Given the description of an element on the screen output the (x, y) to click on. 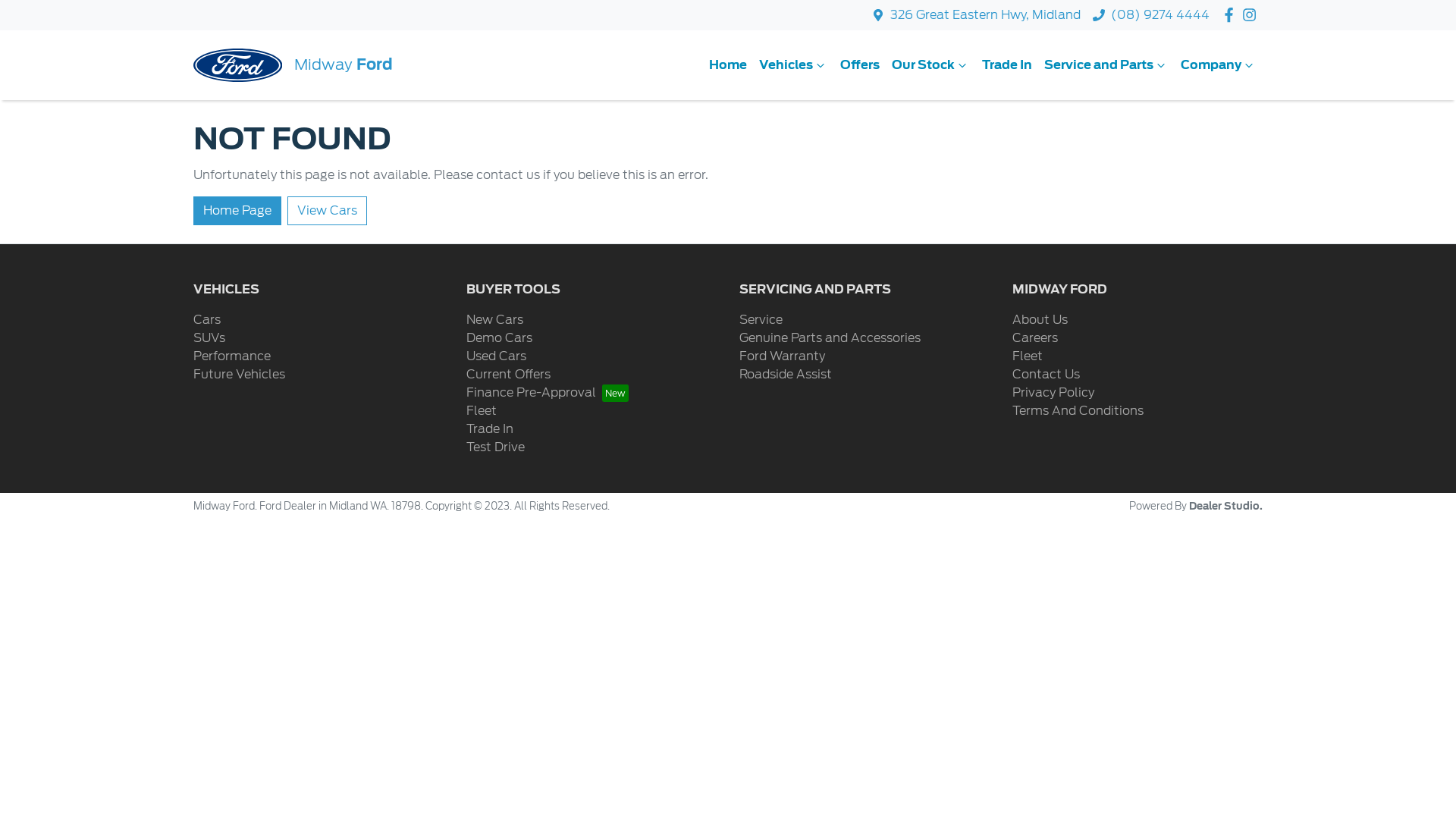
(08) 9274 4444 Element type: text (1159, 14)
View Cars Element type: text (327, 210)
Ford Warranty Element type: text (782, 355)
Careers Element type: text (1034, 337)
Our Stock Element type: text (930, 65)
Company Element type: text (1218, 65)
Midway Ford Element type: text (292, 65)
Service and Parts Element type: text (1106, 65)
New Cars Element type: text (494, 319)
Terms And Conditions Element type: text (1077, 410)
Genuine Parts and Accessories Element type: text (829, 337)
Fleet Element type: text (481, 410)
Offers Element type: text (859, 65)
Cars Element type: text (206, 319)
Trade In Element type: text (1006, 65)
Demo Cars Element type: text (499, 337)
Dealer Studio. Element type: text (1225, 505)
Trade In Element type: text (489, 428)
Contact Us Element type: text (1045, 374)
SUVs Element type: text (209, 337)
Used Cars Element type: text (496, 355)
Service Element type: text (760, 319)
Home Page Element type: text (237, 210)
Current Offers Element type: text (508, 374)
Performance Element type: text (231, 355)
Future Vehicles Element type: text (239, 374)
Vehicles Element type: text (793, 65)
Privacy Policy Element type: text (1053, 392)
Roadside Assist Element type: text (785, 374)
Home Element type: text (727, 65)
326 Great Eastern Hwy, Midland Element type: text (985, 14)
Finance Pre-Approval Element type: text (547, 392)
Test Drive Element type: text (495, 446)
About Us Element type: text (1039, 319)
Fleet Element type: text (1027, 355)
